Given the description of an element on the screen output the (x, y) to click on. 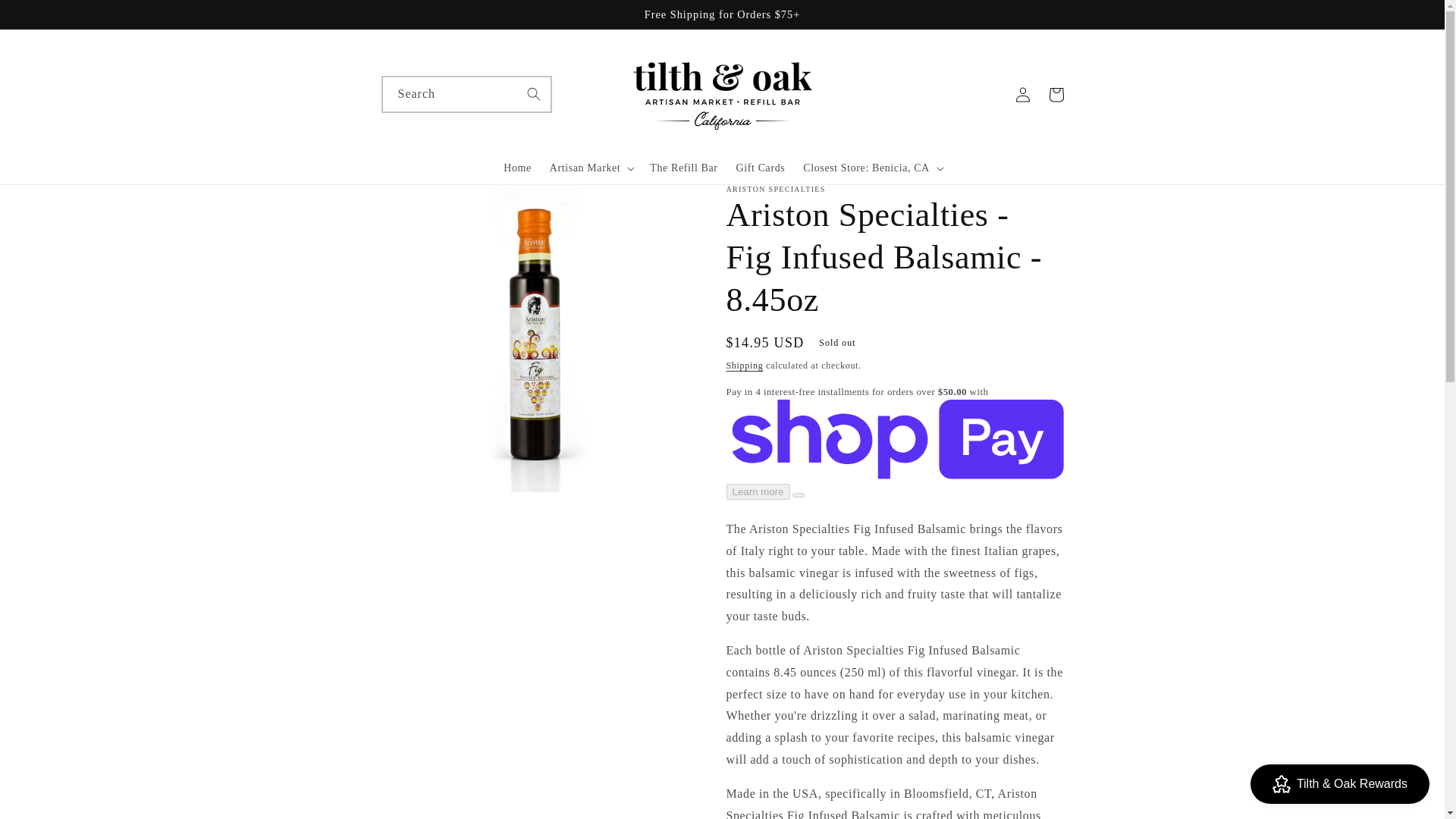
Skip to content (45, 16)
